Given the description of an element on the screen output the (x, y) to click on. 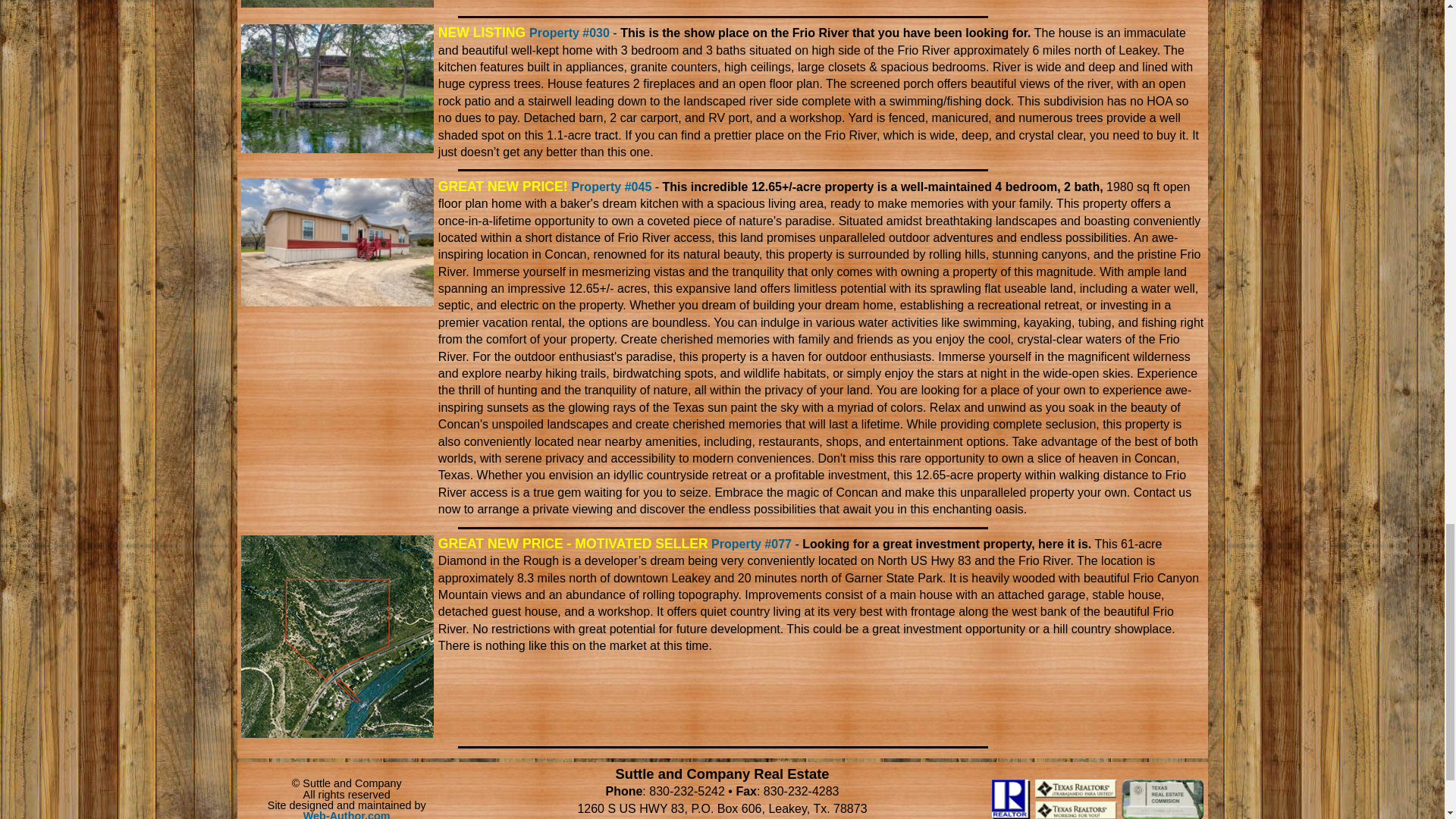
Web-Author.com (346, 814)
